Given the description of an element on the screen output the (x, y) to click on. 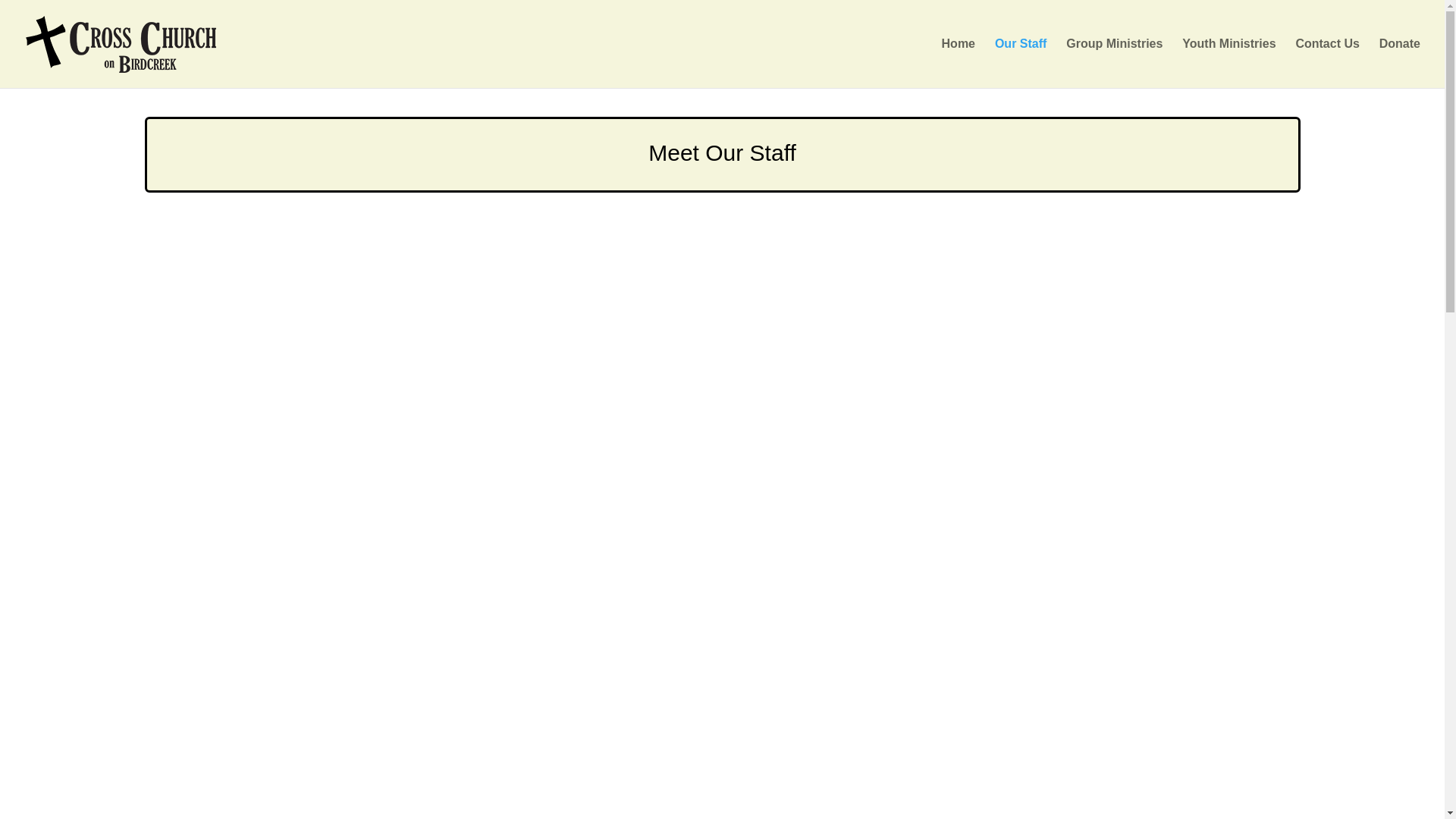
Contact Us (1326, 62)
Youth Ministries (1228, 62)
Our Staff (1020, 62)
Group Ministries (1113, 62)
